Given the description of an element on the screen output the (x, y) to click on. 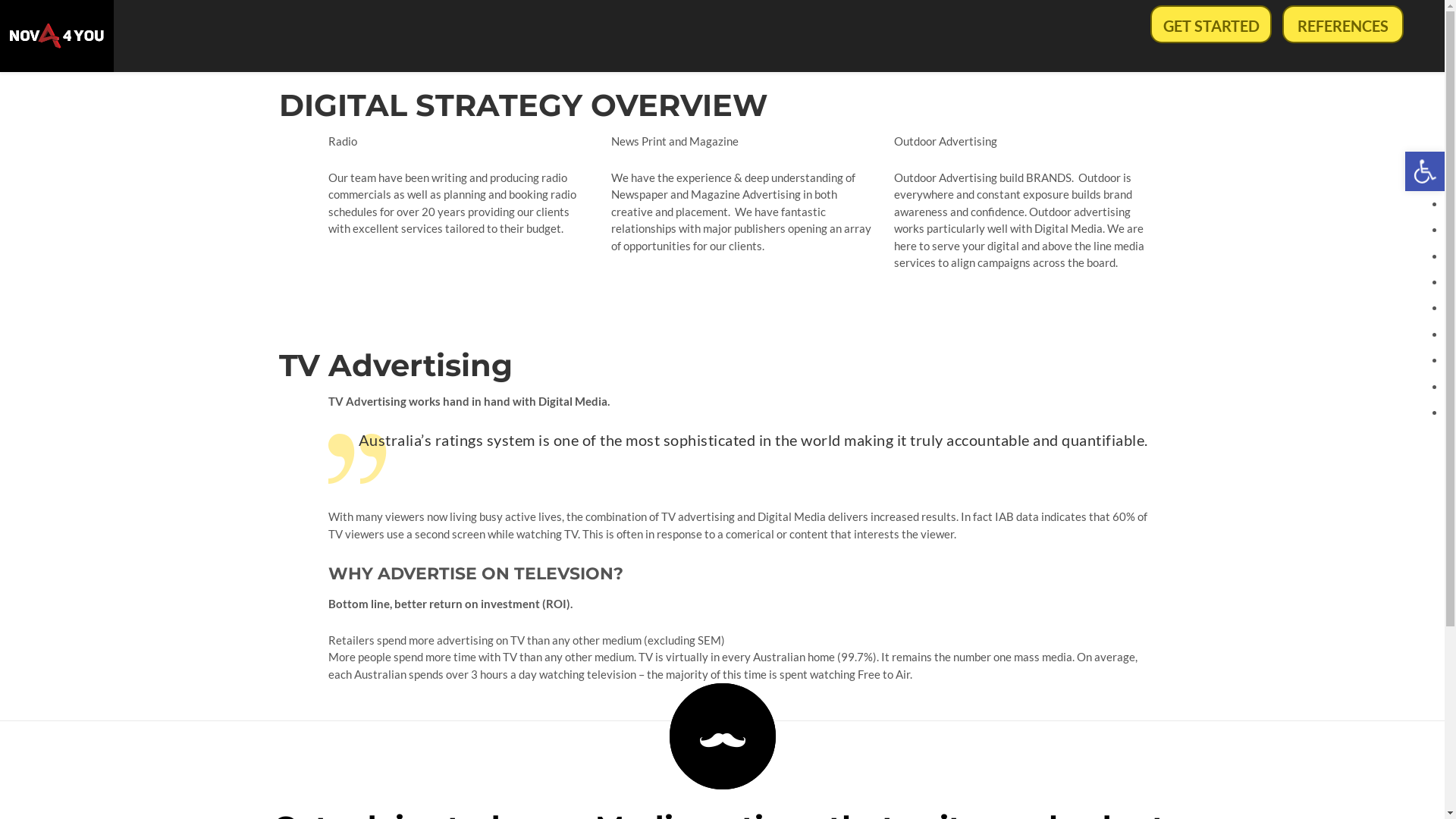
Twitter Element type: hover (1155, 770)
LinkedIn Element type: hover (1133, 770)
REFERENCES Element type: text (1342, 24)
Facebook Element type: hover (1109, 770)
GET STARTED Element type: text (1210, 24)
Open toolbar Element type: text (1424, 171)
